Given the description of an element on the screen output the (x, y) to click on. 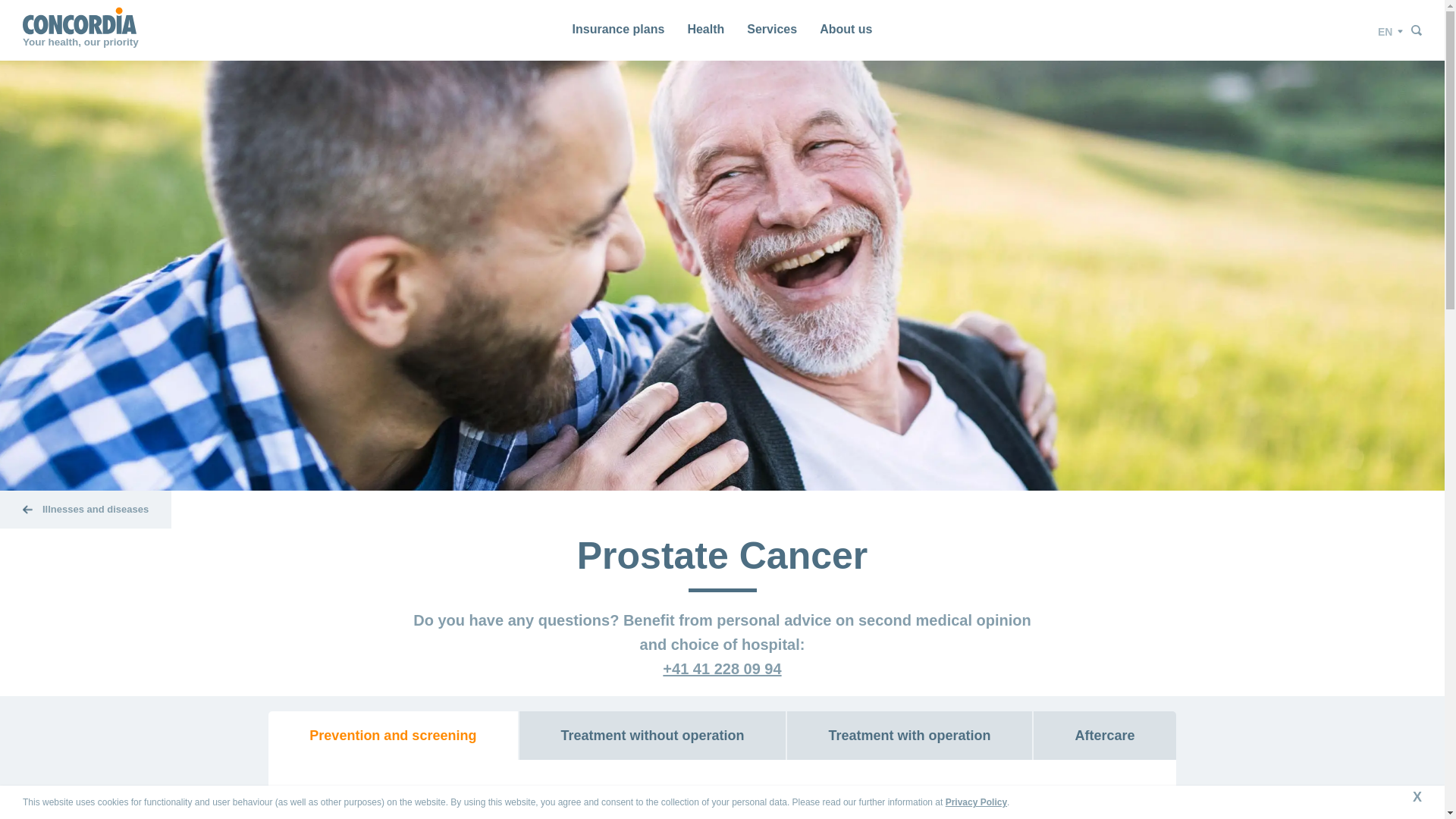
Health (705, 29)
Insurance plans (618, 29)
Your health, our priority (80, 29)
